Given the description of an element on the screen output the (x, y) to click on. 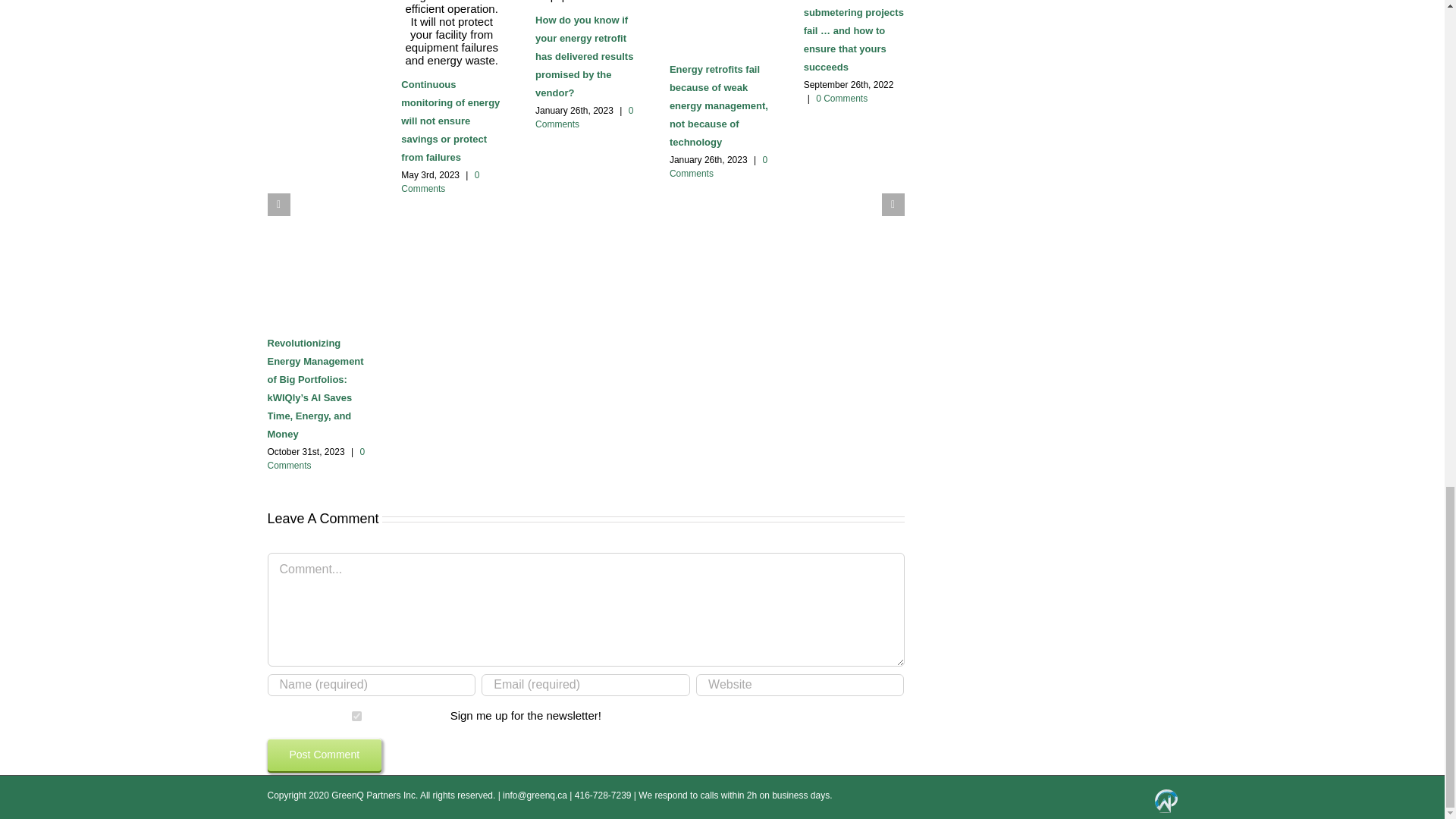
Post Comment (323, 754)
1 (355, 716)
